Given the description of an element on the screen output the (x, y) to click on. 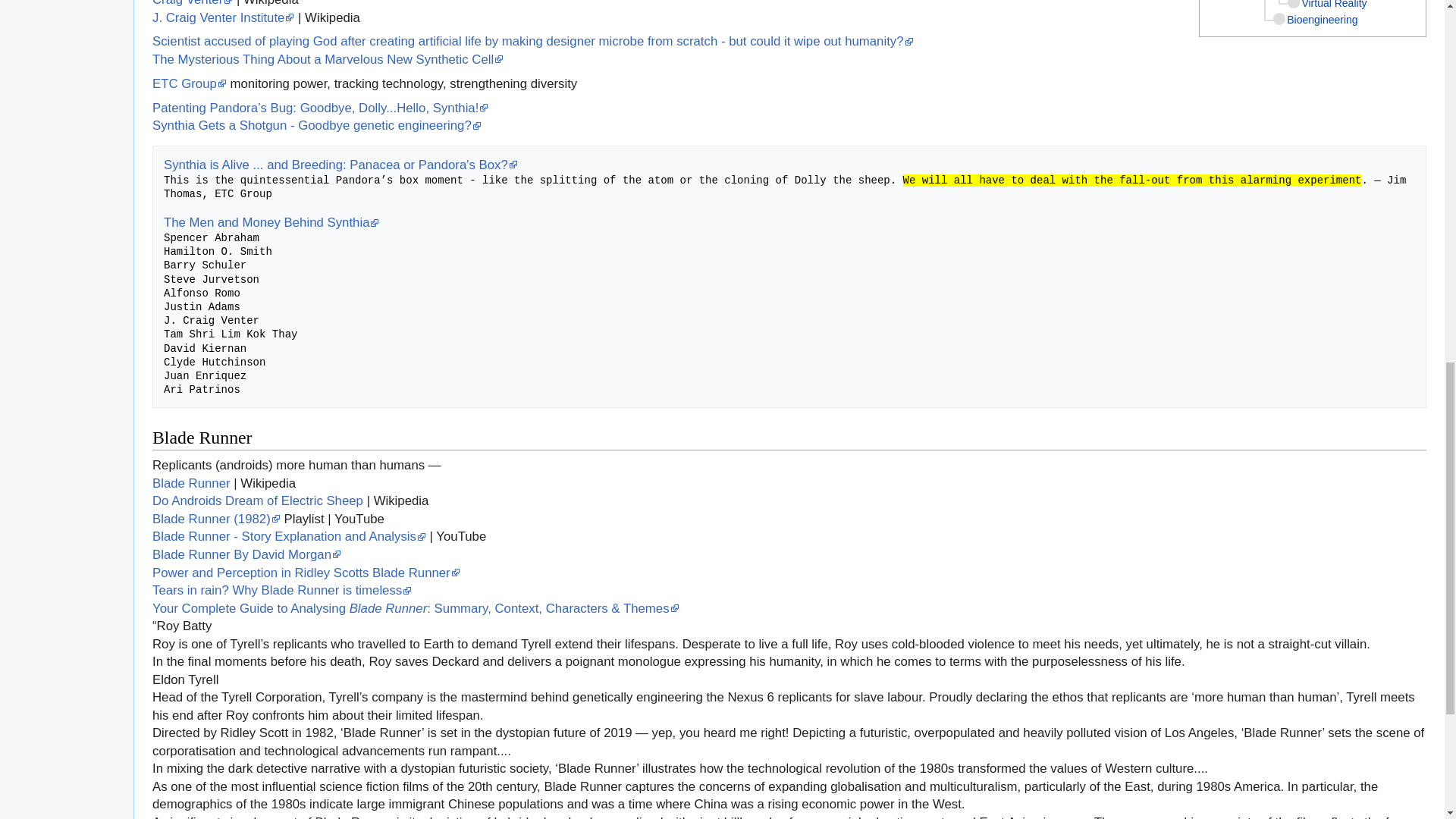
wikipedia:Do Androids Dream of Electric Sheep? (257, 500)
wikipedia:Blade Runner (191, 482)
